Given the description of an element on the screen output the (x, y) to click on. 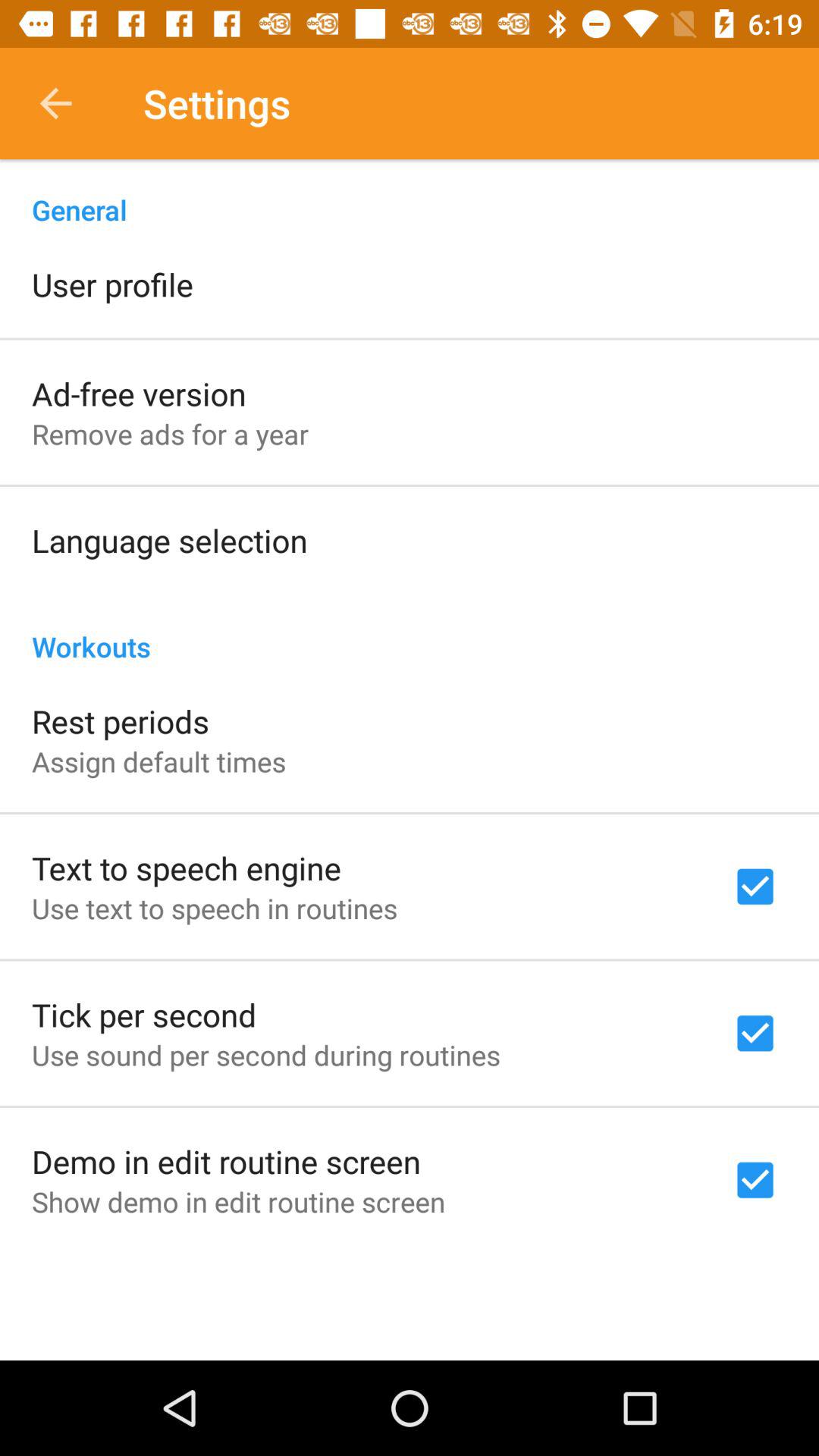
scroll until assign default times item (158, 761)
